Given the description of an element on the screen output the (x, y) to click on. 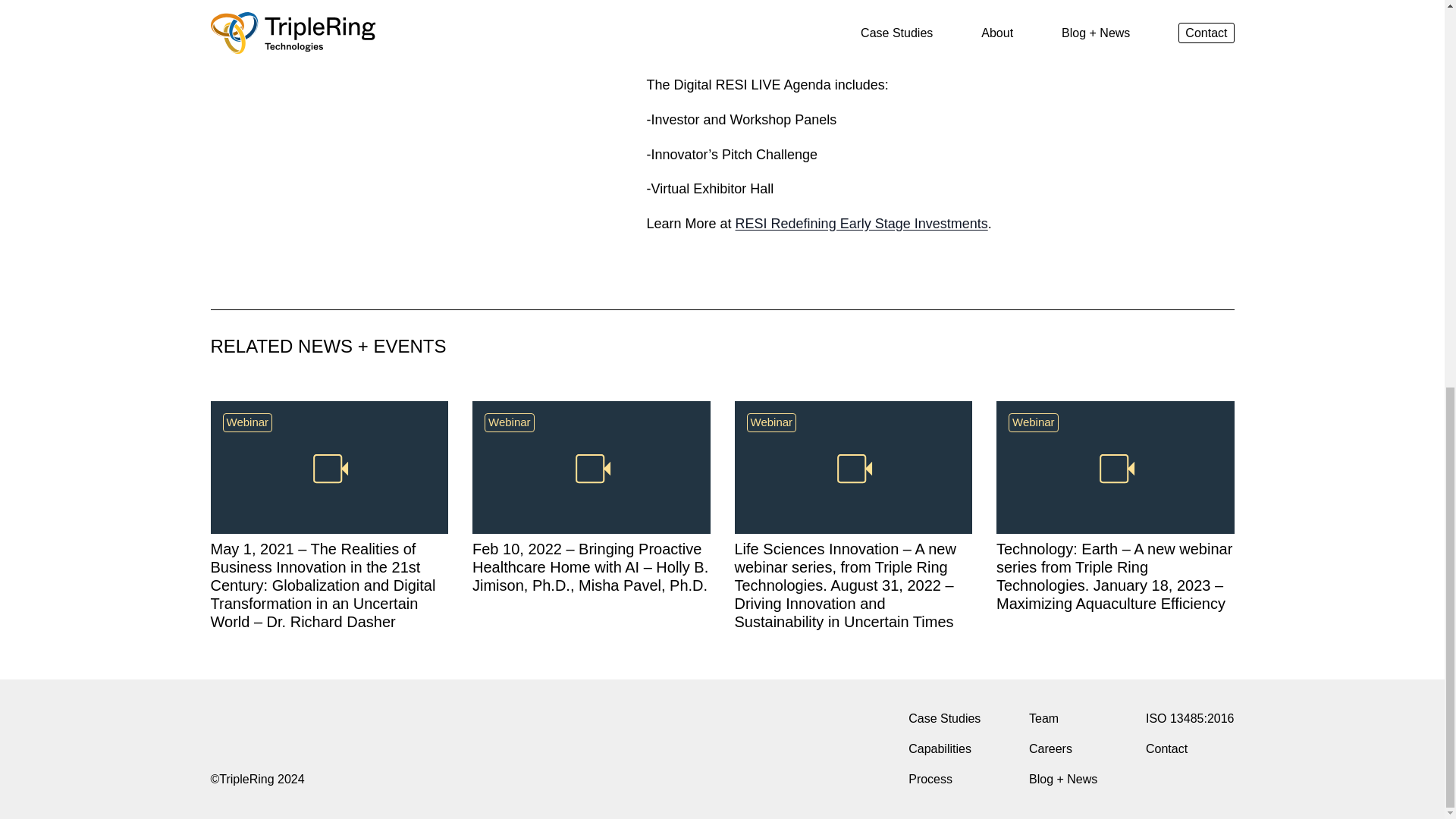
ISO 13485:2016 (1189, 719)
Contact (1189, 749)
Capabilities (943, 749)
Careers (1063, 749)
Process (943, 779)
Team (1063, 719)
RESI Redefining Early Stage Investments (861, 223)
Case Studies (943, 719)
